Given the description of an element on the screen output the (x, y) to click on. 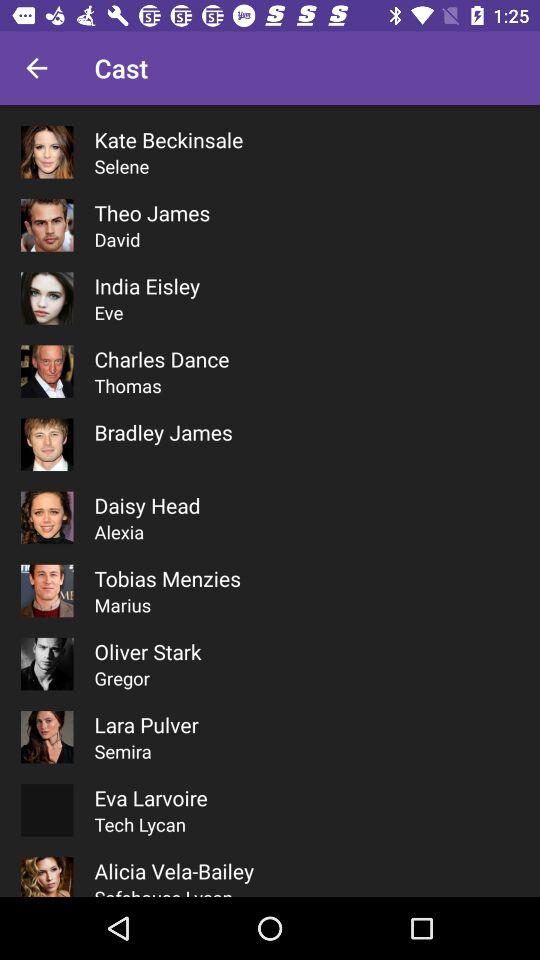
press item below the cast (168, 139)
